Given the description of an element on the screen output the (x, y) to click on. 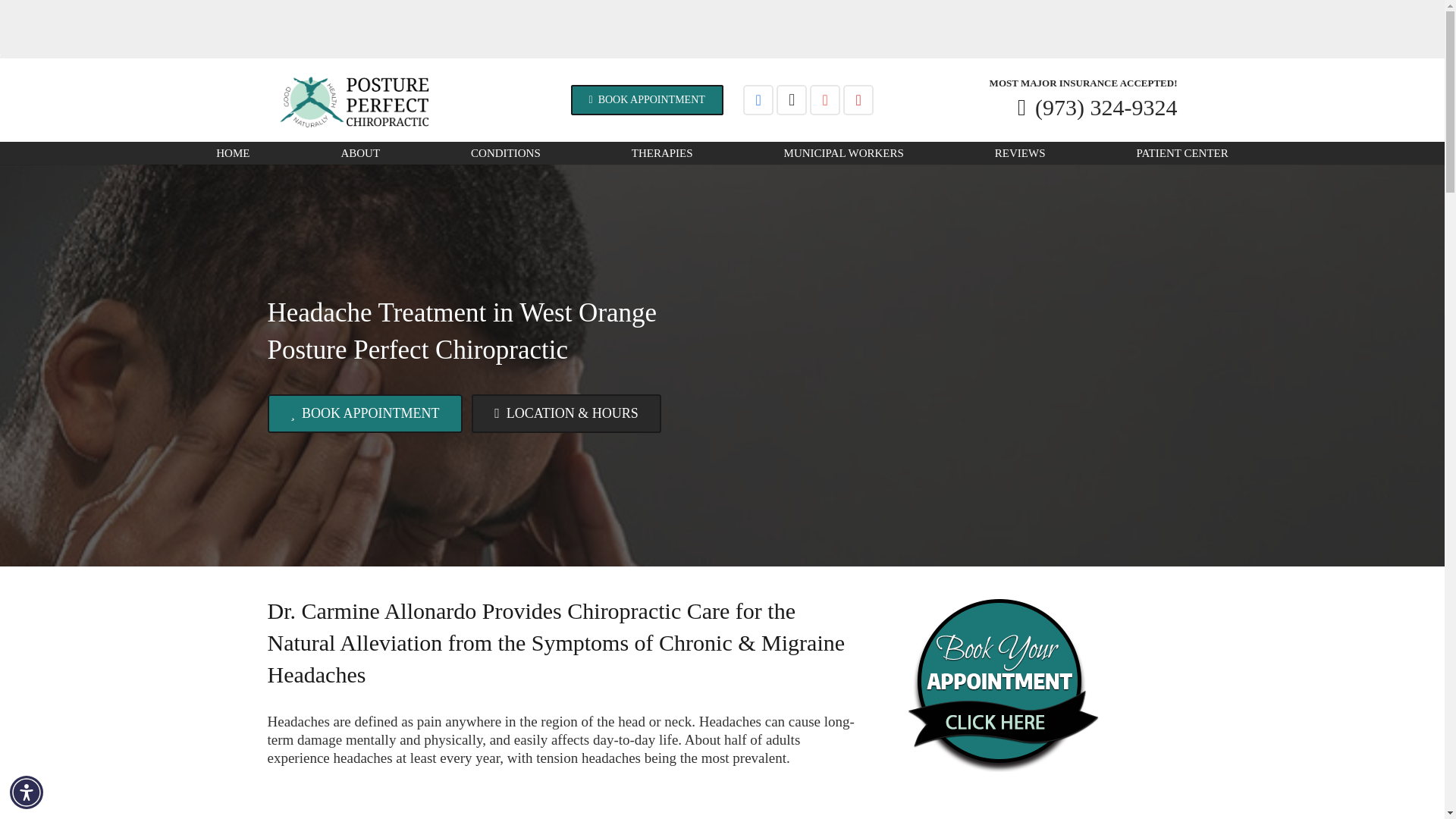
Facebook (757, 100)
Yelp (858, 100)
BOOK APPOINTMENT (646, 99)
Instagram (791, 100)
Google (824, 100)
Accessibility Menu (26, 792)
